Given the description of an element on the screen output the (x, y) to click on. 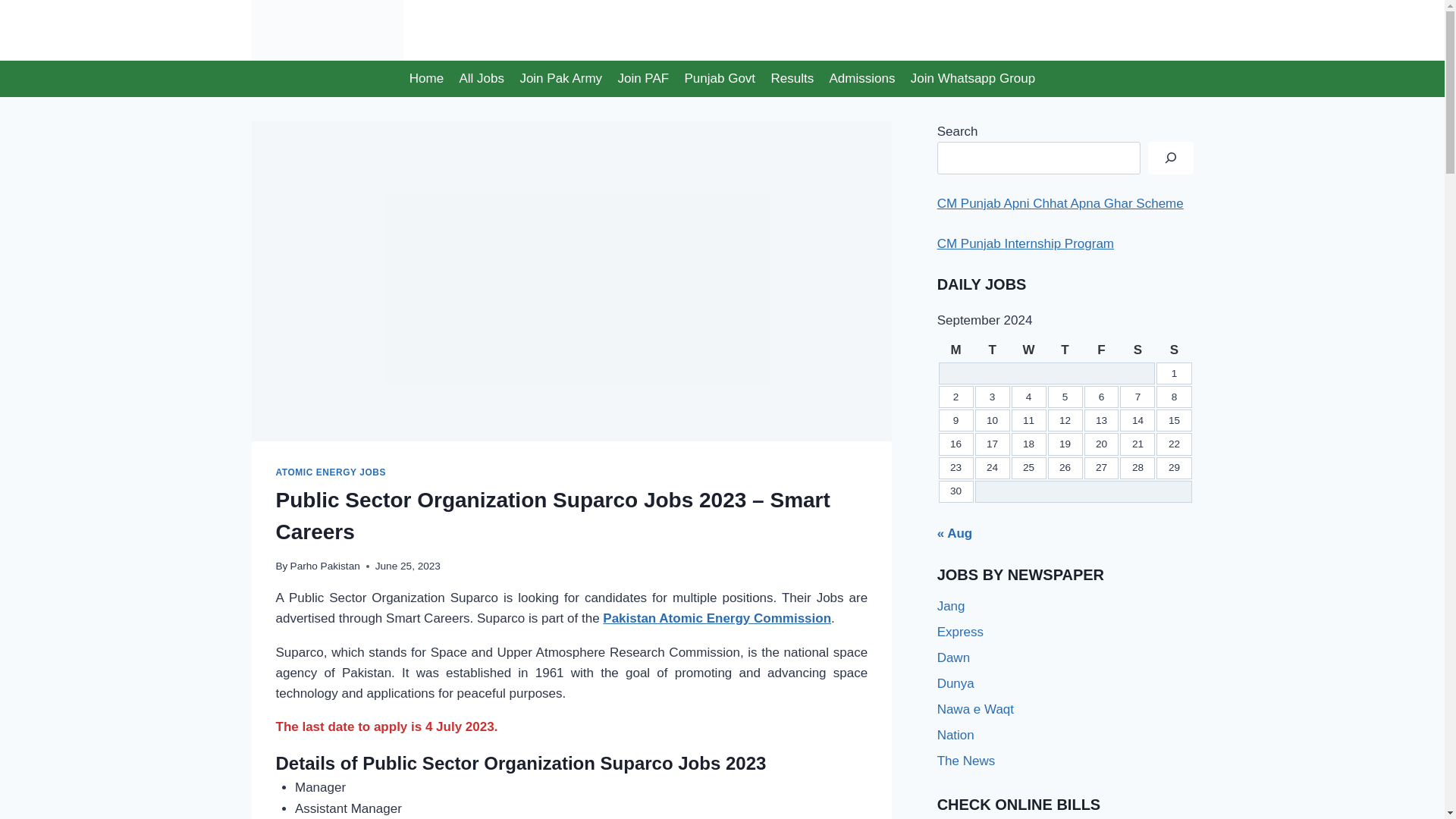
Pakistan Atomic Energy Commission (716, 617)
Join Whatsapp Group (972, 78)
Thursday (1065, 350)
Tuesday (992, 350)
Monday (956, 350)
All Jobs (481, 78)
Results (791, 78)
ATOMIC ENERGY JOBS (331, 471)
Join PAF (643, 78)
Punjab Govt (719, 78)
